Given the description of an element on the screen output the (x, y) to click on. 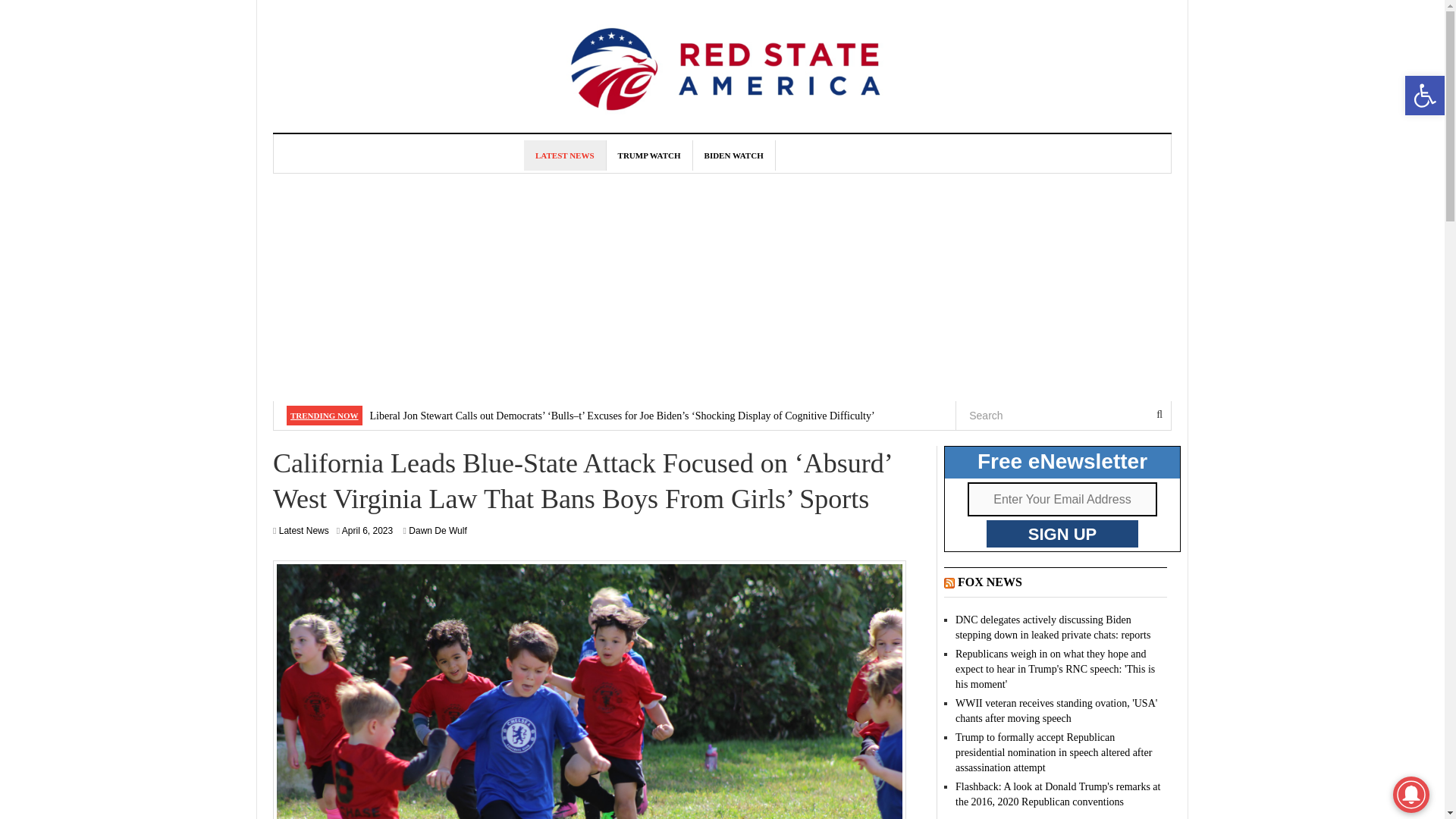
BIDEN WATCH (734, 155)
SIGN UP (1062, 533)
Latest News (367, 530)
LATEST NEWS (304, 530)
Dawn De Wulf (565, 155)
Accessibility Tools (437, 530)
TRUMP WATCH (1424, 95)
Advertisement (650, 155)
